Given the description of an element on the screen output the (x, y) to click on. 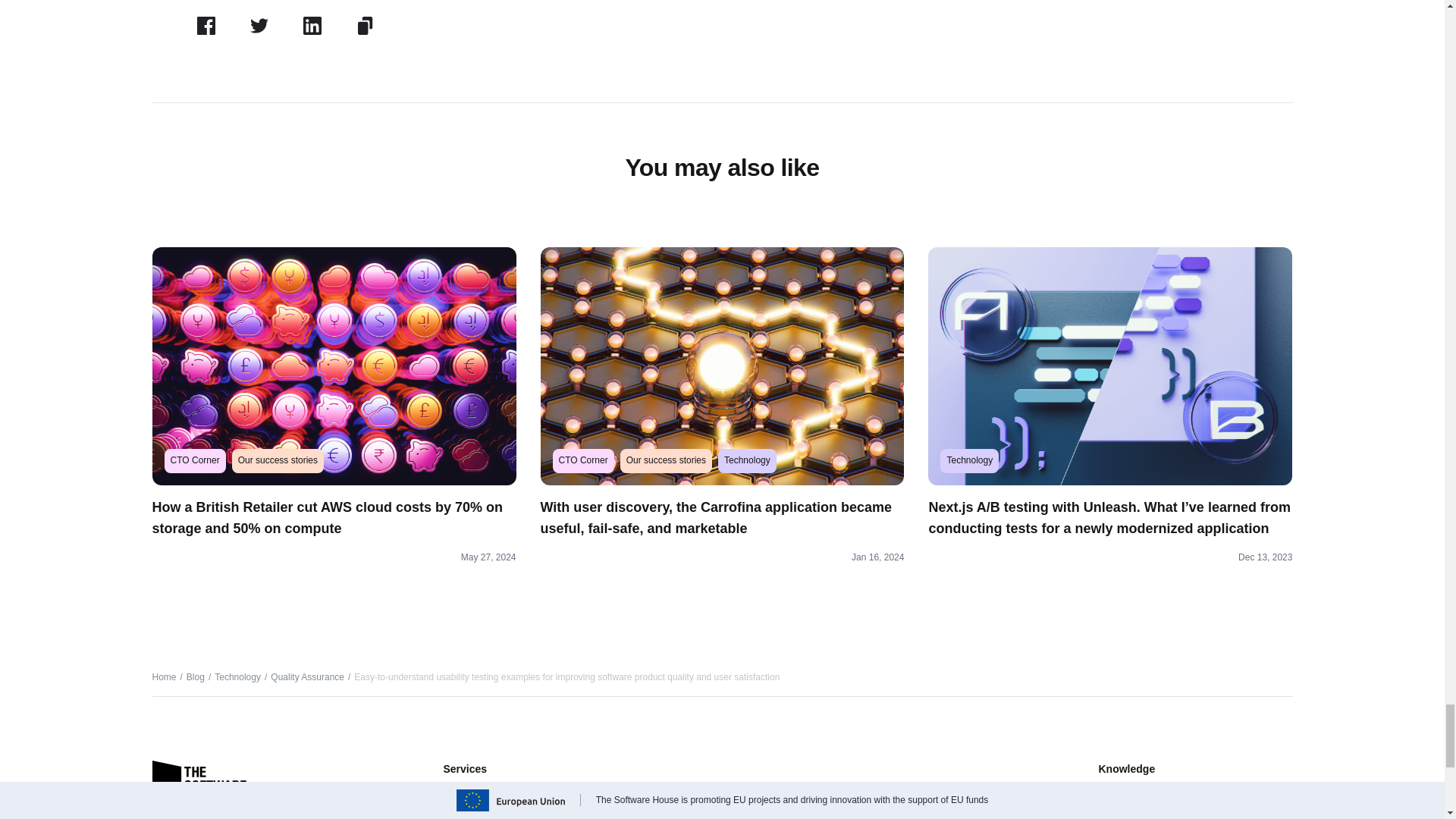
Go to Home. (163, 676)
Go to Blog. (195, 676)
Go to the Quality Assurance category archives. (306, 676)
Go to the Technology category archives. (237, 676)
